Given the description of an element on the screen output the (x, y) to click on. 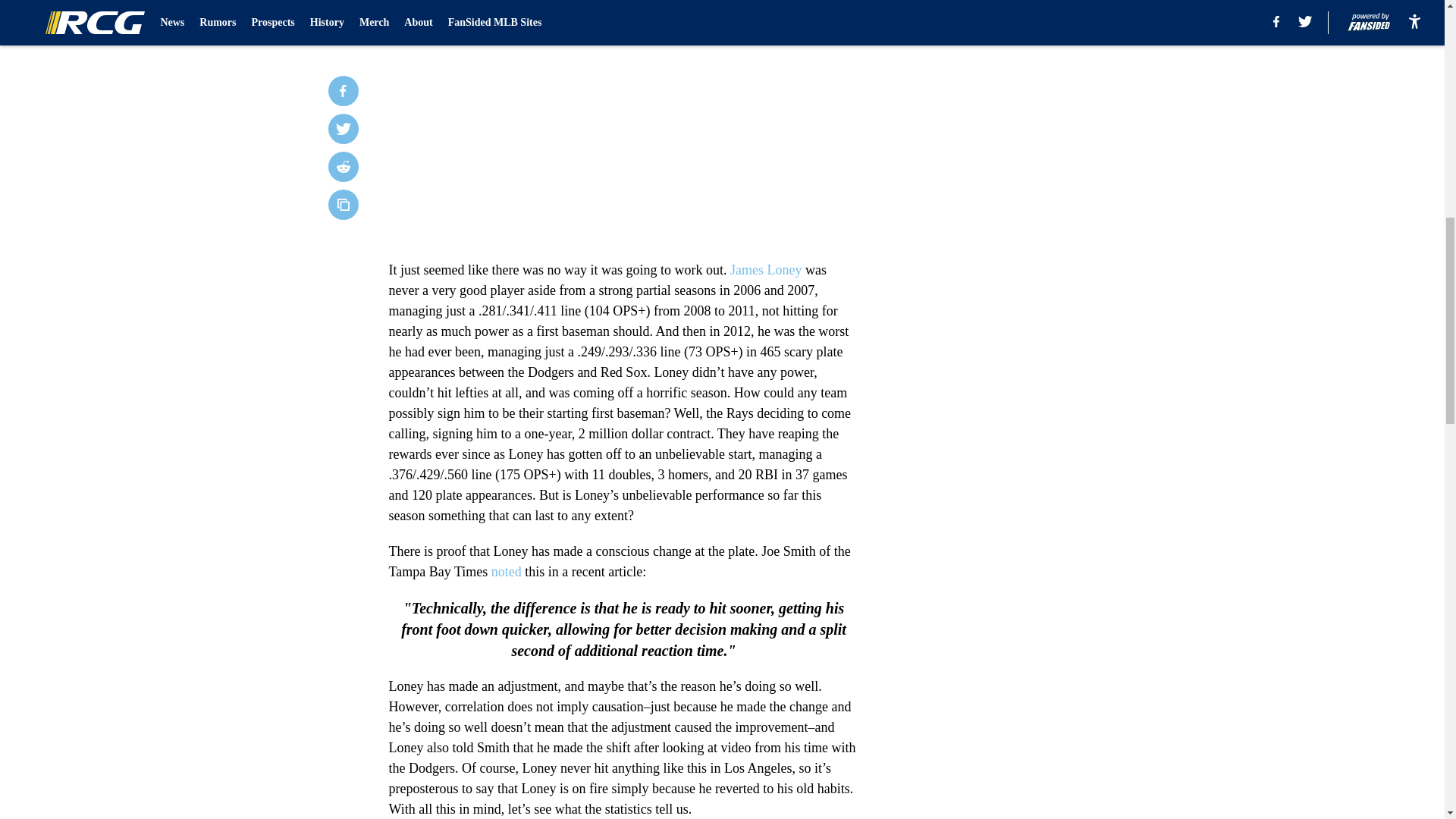
James Loney (766, 269)
noted (506, 571)
